Given the description of an element on the screen output the (x, y) to click on. 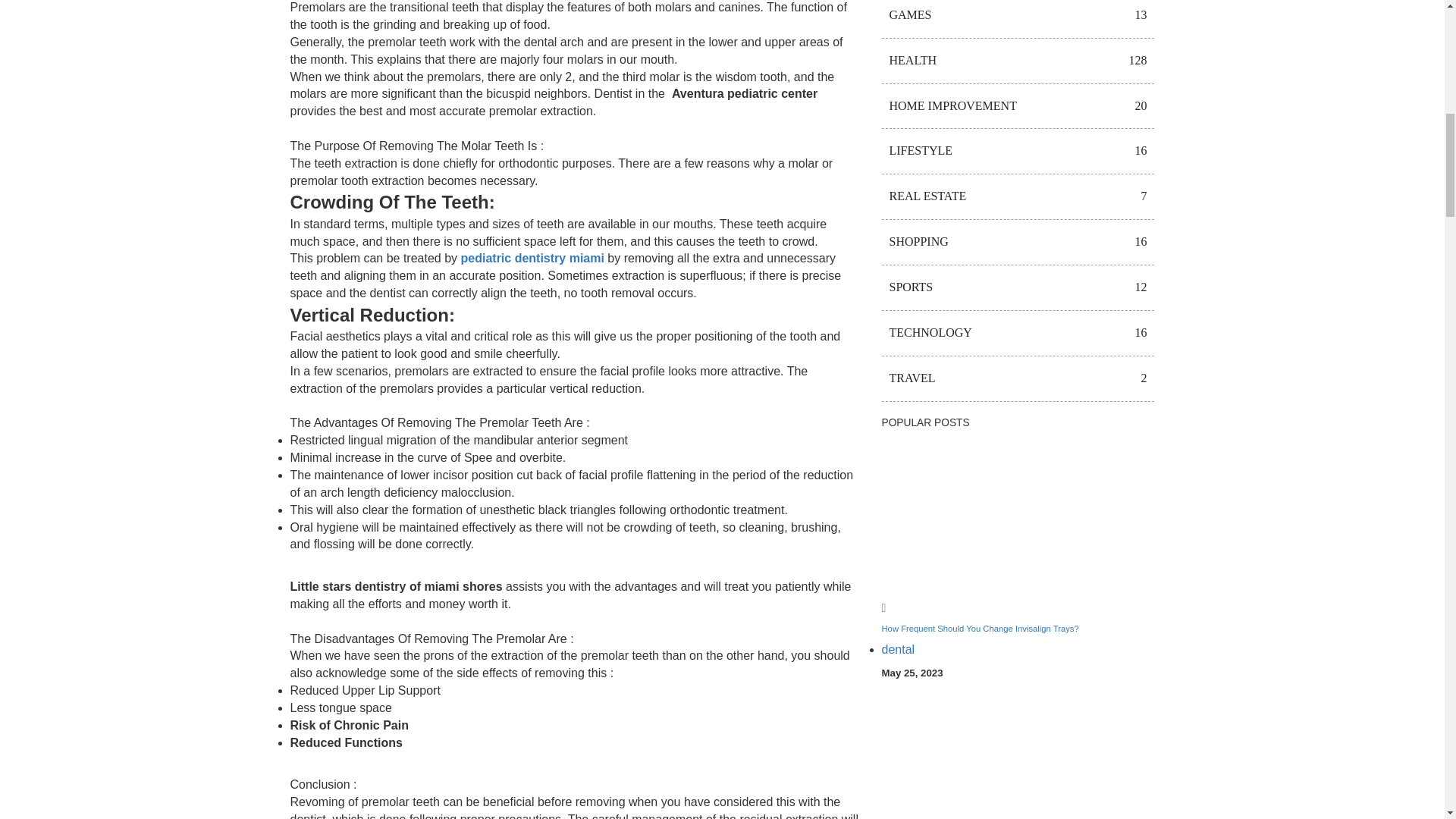
pediatric dentistry miami (532, 257)
